Given the description of an element on the screen output the (x, y) to click on. 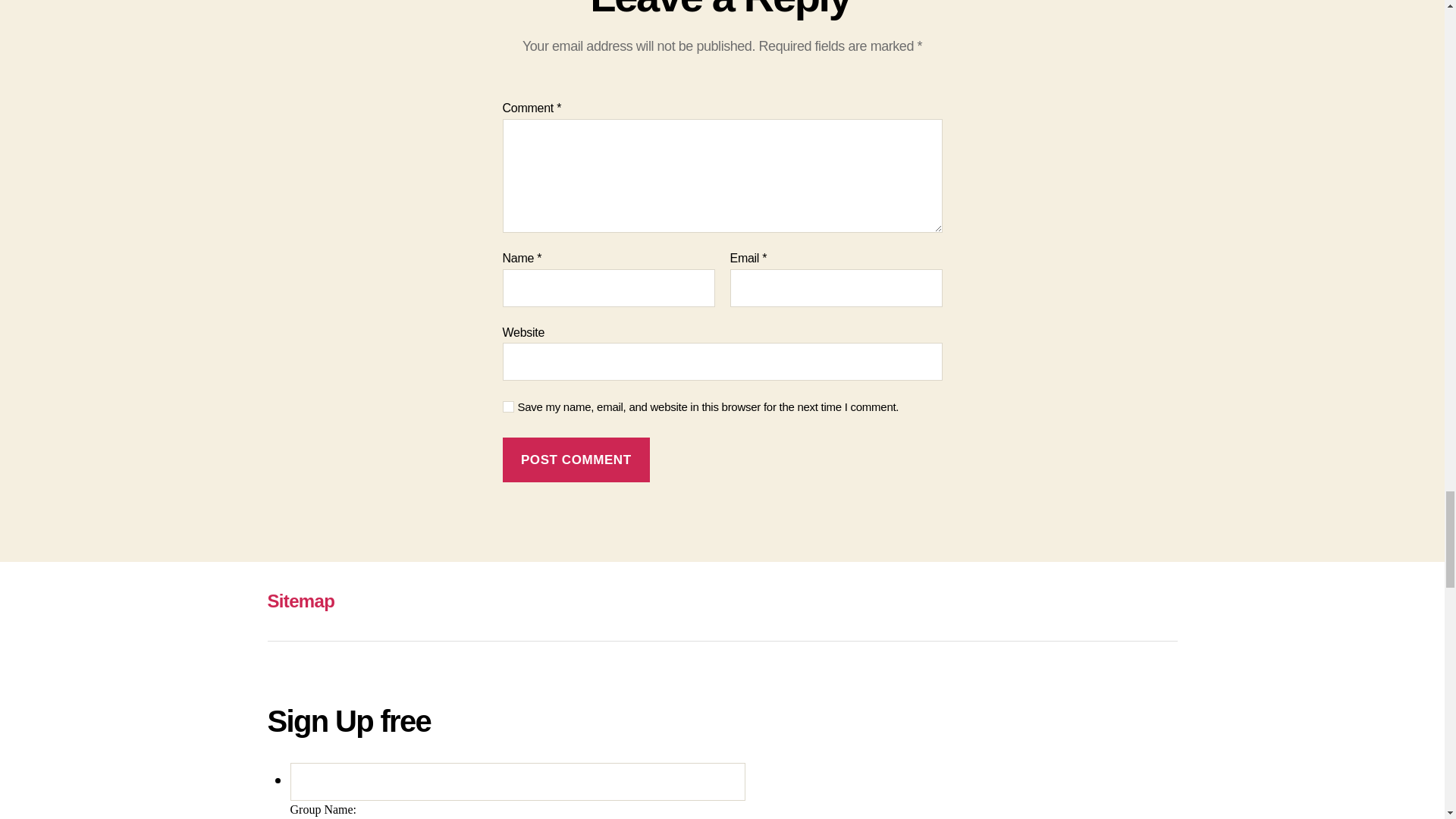
Post Comment (575, 459)
yes (507, 406)
